Given the description of an element on the screen output the (x, y) to click on. 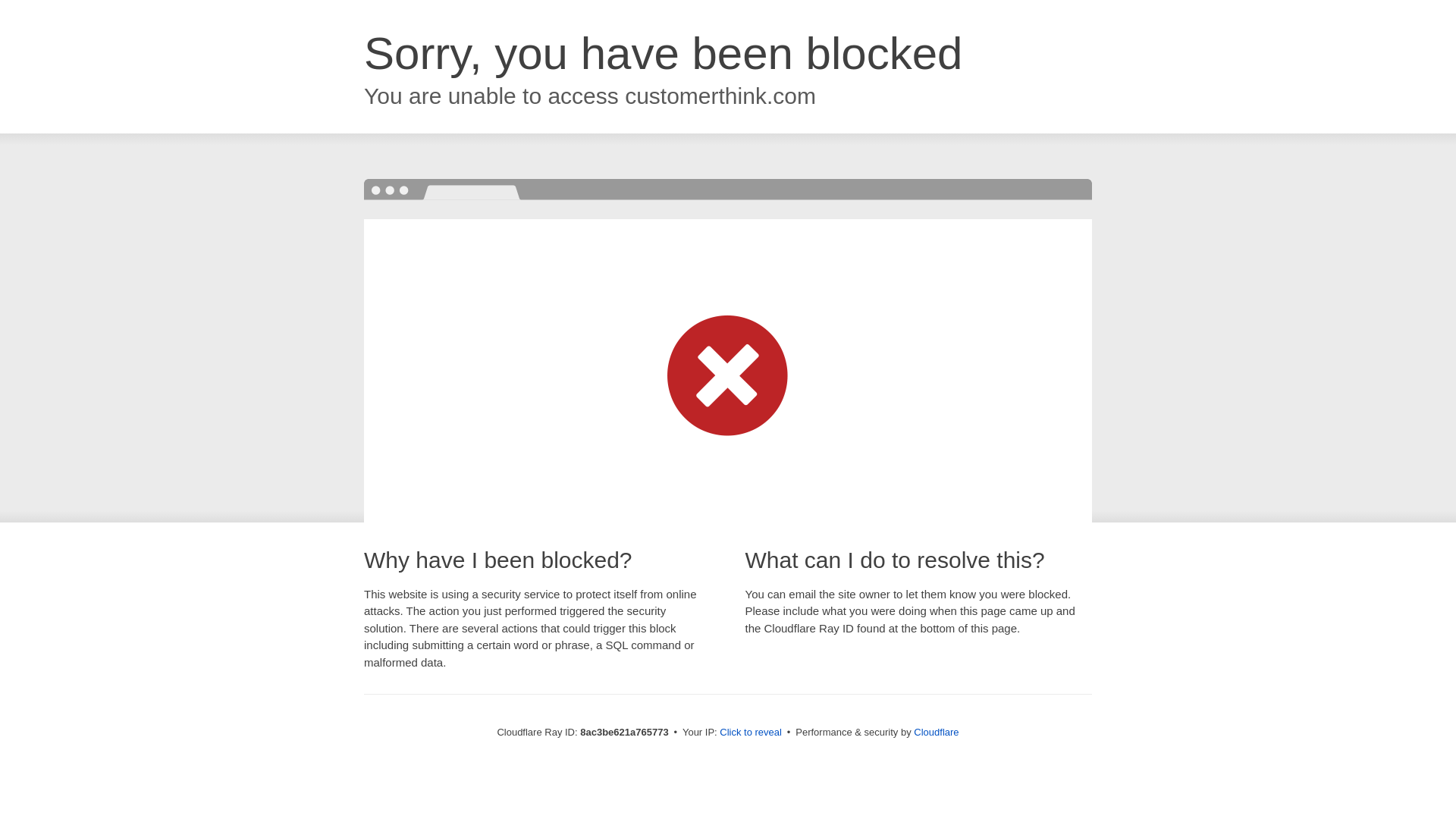
Cloudflare (936, 731)
Click to reveal (750, 732)
